Given the description of an element on the screen output the (x, y) to click on. 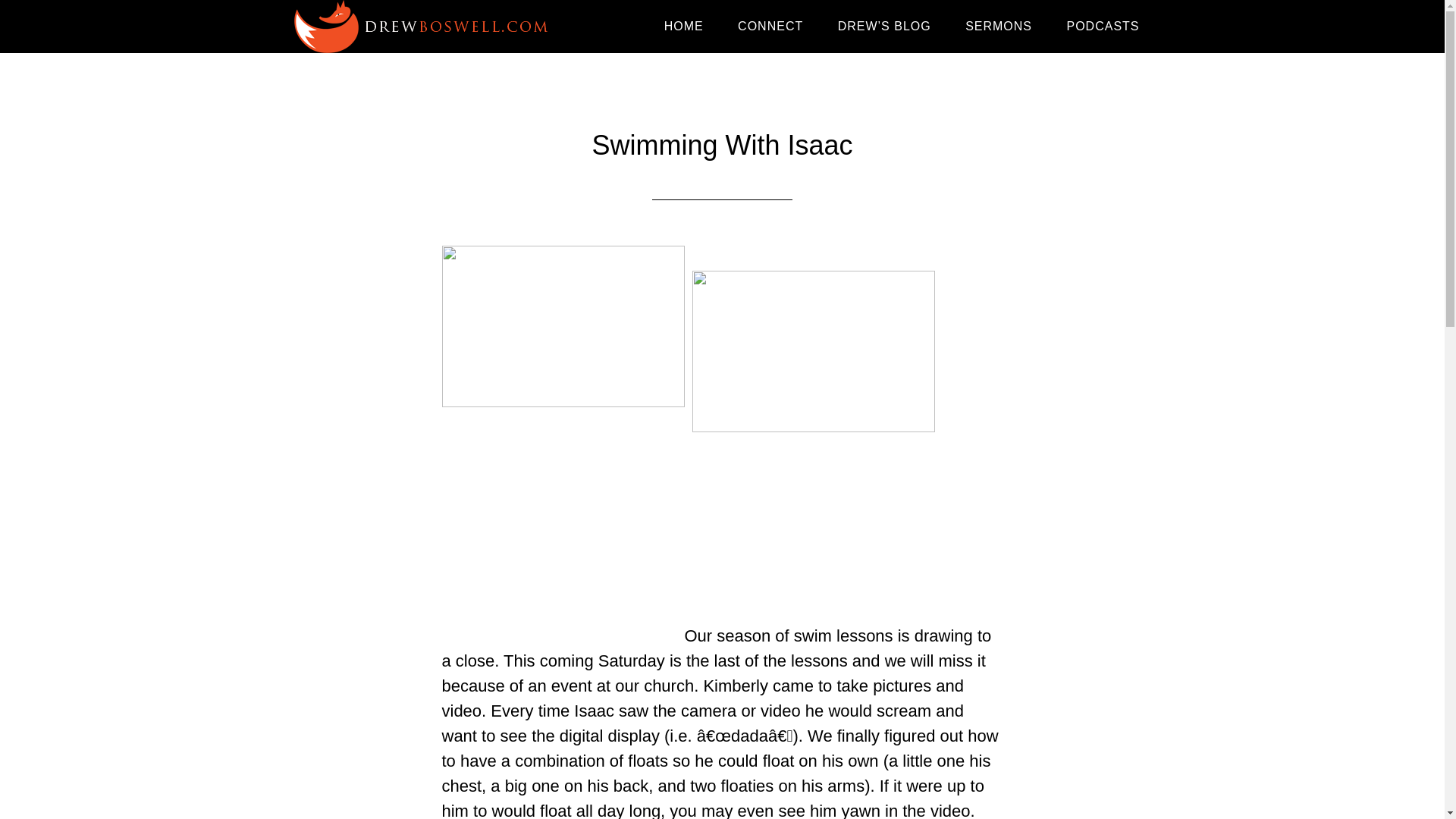
DREW BOSWELL (425, 26)
HOME (684, 26)
CONNECT (770, 26)
PODCASTS (1102, 26)
SERMONS (998, 26)
